Given the description of an element on the screen output the (x, y) to click on. 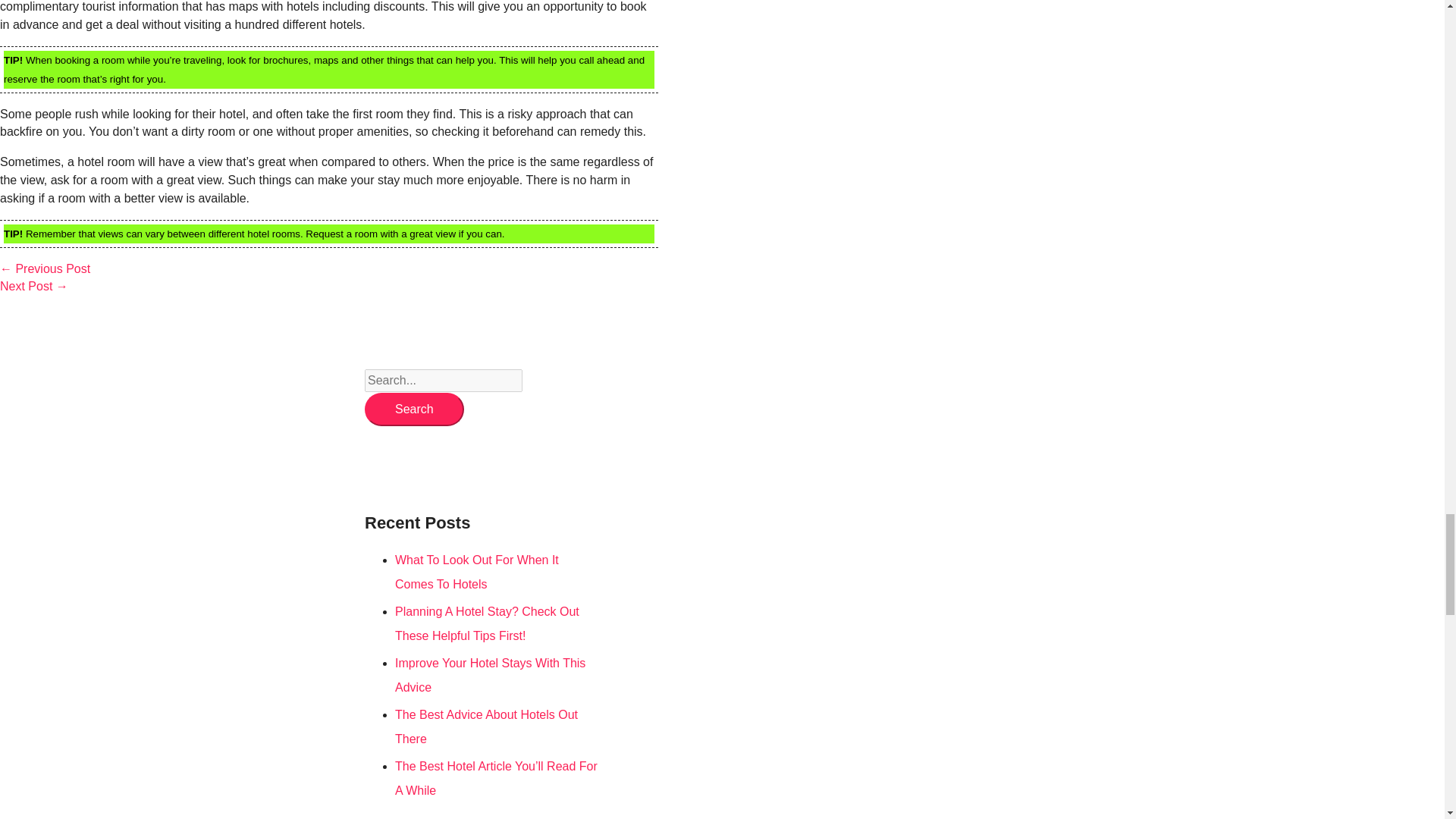
Searching For Simple Golf Tips? Check Below! (45, 268)
Search (414, 409)
Search (414, 409)
Basic Tips, Tricks And Ideas For Camping (34, 286)
The Best Advice About Hotels Out There (486, 726)
Improve Your Hotel Stays With This Advice (489, 674)
Planning A Hotel Stay? Check Out These Helpful Tips First! (486, 623)
What To Look Out For When It Comes To Hotels (476, 571)
Search (414, 409)
